Given the description of an element on the screen output the (x, y) to click on. 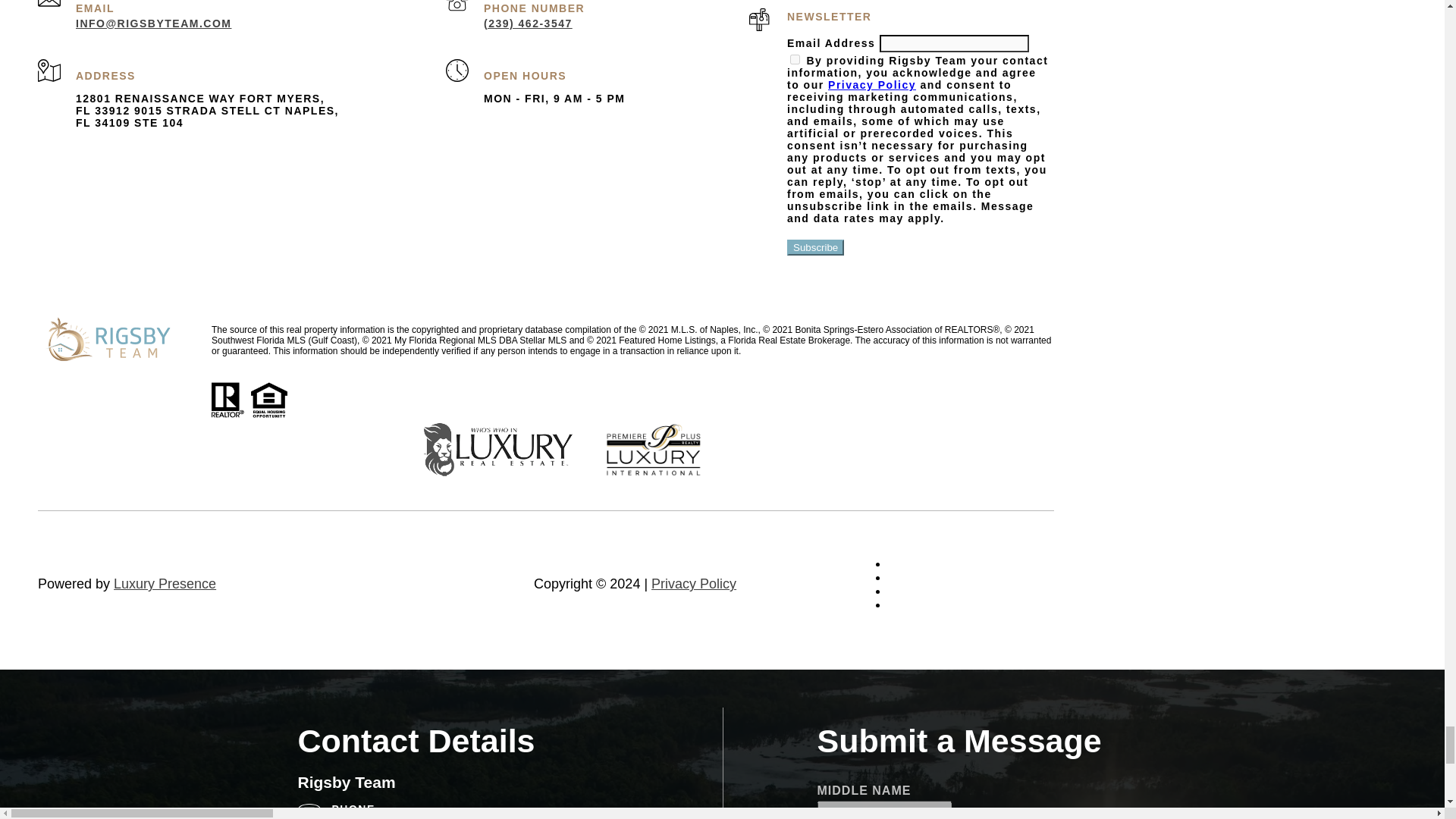
on (794, 59)
